Given the description of an element on the screen output the (x, y) to click on. 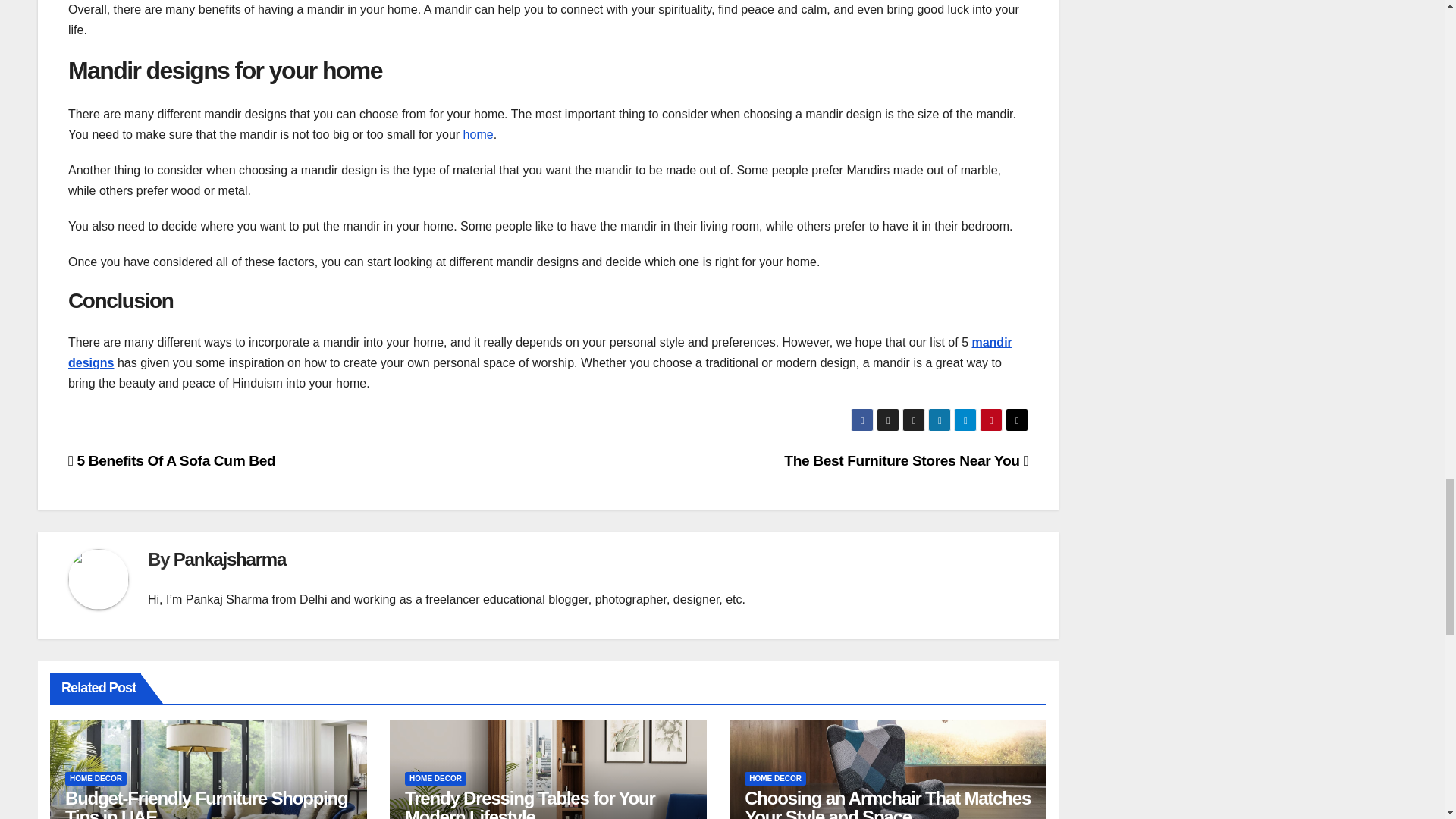
home (478, 133)
mandir designs (539, 352)
